Given the description of an element on the screen output the (x, y) to click on. 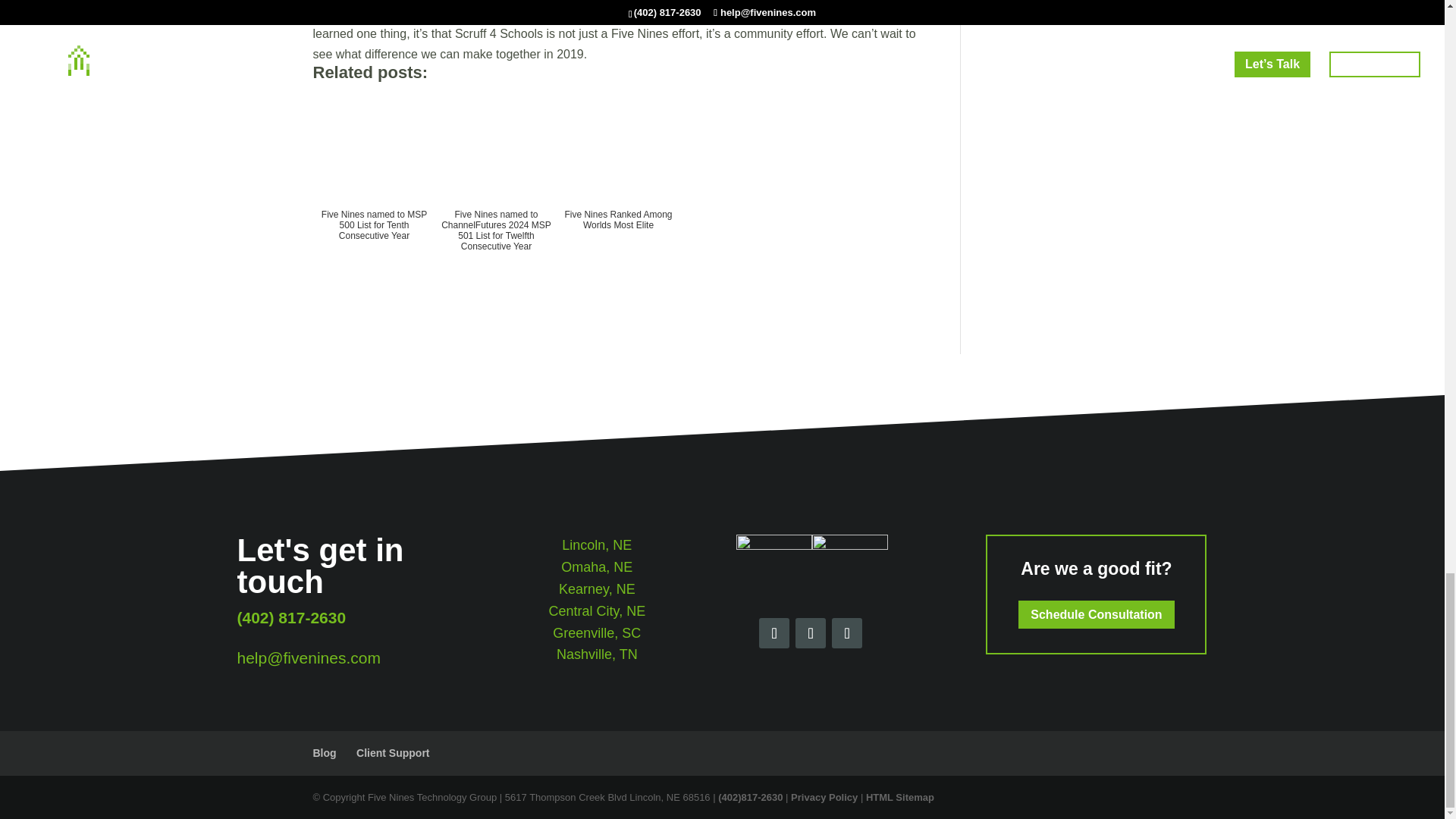
Follow on Vimeo (846, 633)
Omaha, NE (595, 566)
Follow on LinkedIn (809, 633)
Greenville, SC (596, 632)
Central City, NE (596, 611)
Follow on Facebook (773, 633)
Lincoln, NE (596, 544)
Kearney, NE (596, 589)
Schedule Consultation (1095, 614)
Nashville, TN (596, 654)
